Given the description of an element on the screen output the (x, y) to click on. 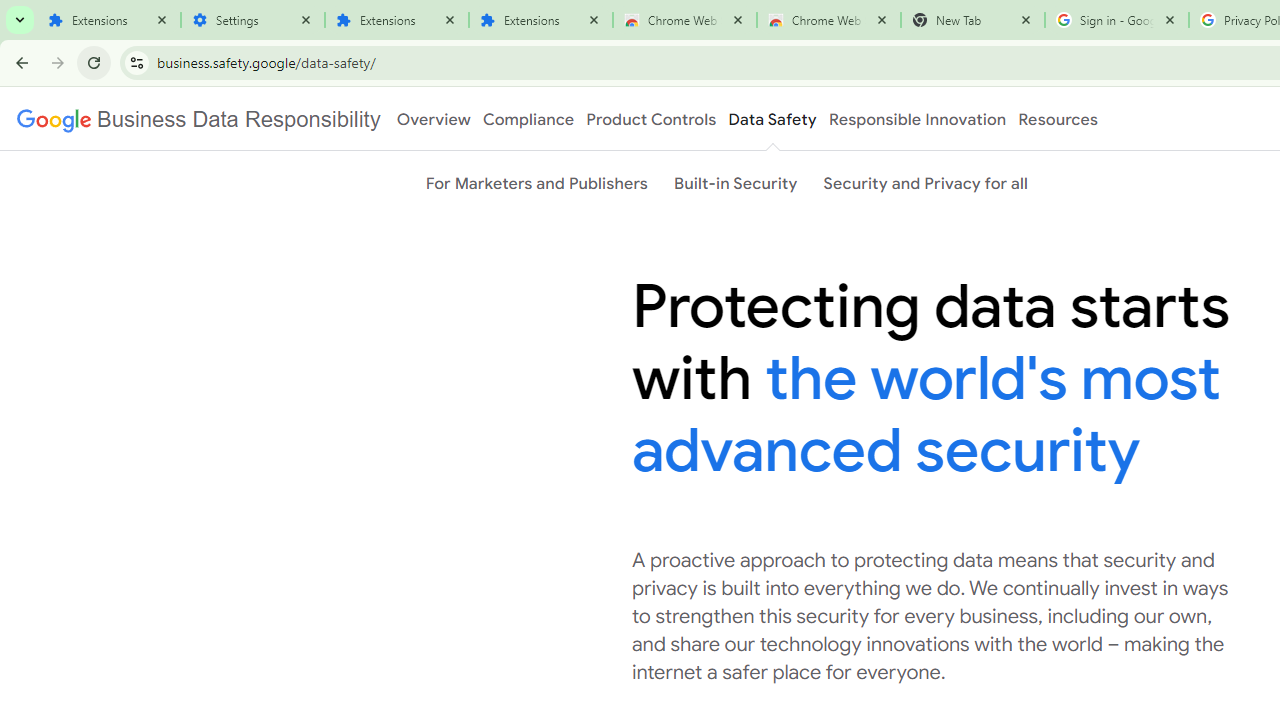
Overview (433, 119)
Sign in - Google Accounts (1116, 20)
Extensions (540, 20)
Google logo (198, 119)
Built-in Security (735, 183)
Resources (1058, 119)
For Marketers and Publishers (536, 183)
Product Controls (651, 119)
Settings (252, 20)
